Given the description of an element on the screen output the (x, y) to click on. 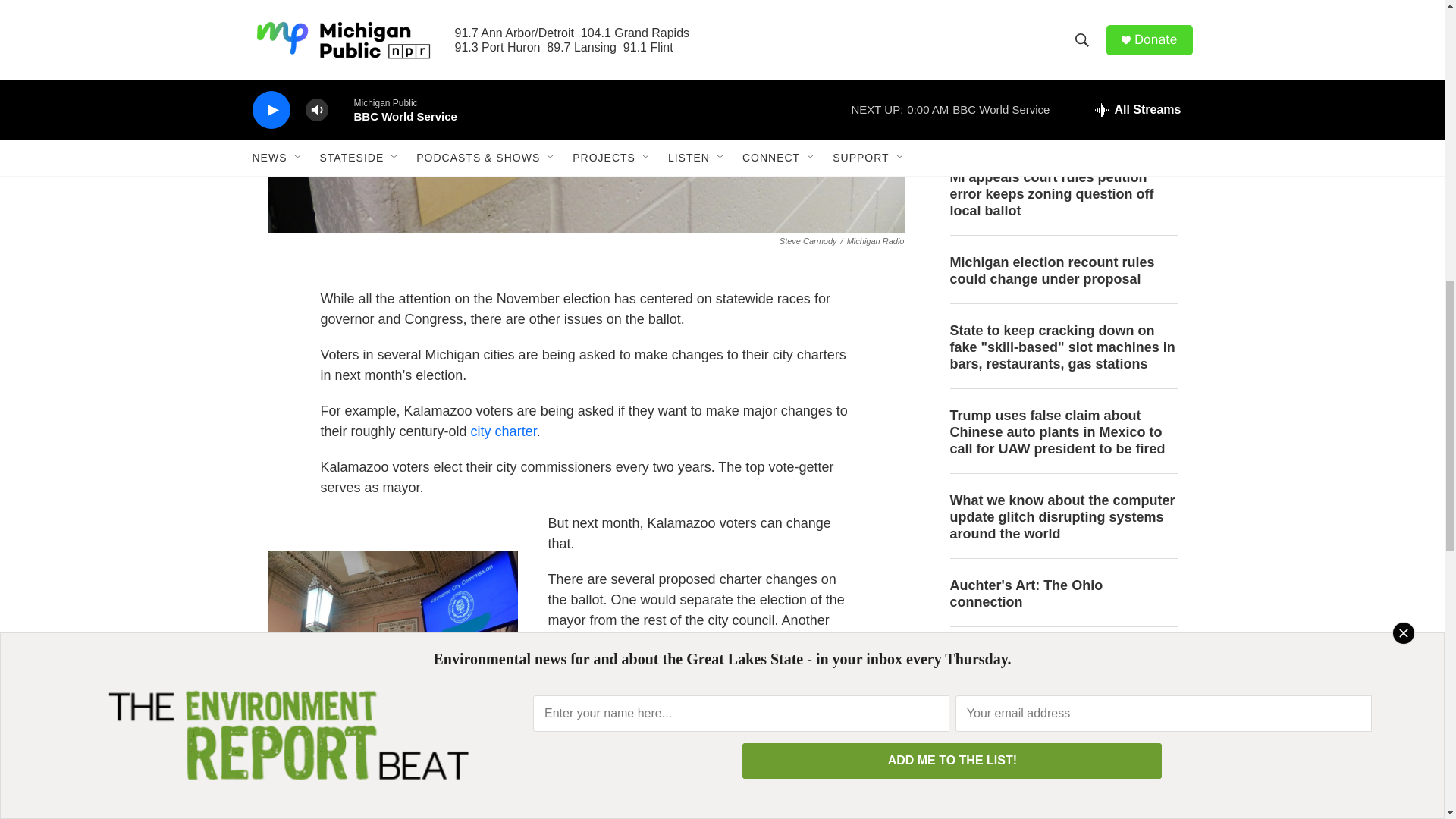
3rd party ad content (1062, 42)
3rd party ad content (1062, 738)
